Given the description of an element on the screen output the (x, y) to click on. 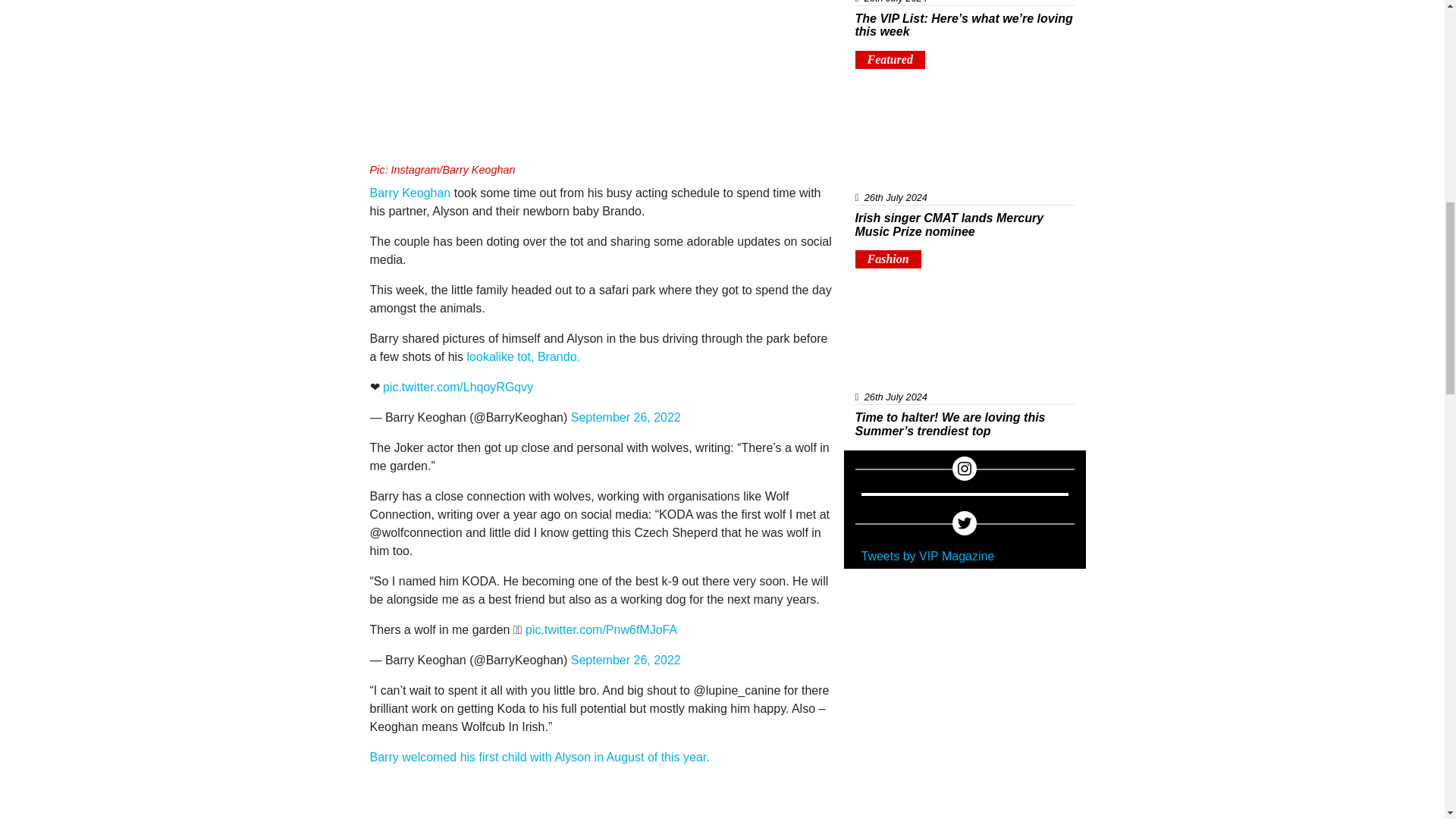
Barry Keoghan (410, 192)
September 26, 2022 (625, 417)
September 26, 2022 (625, 659)
lookalike tot, Brando. (523, 356)
